Given the description of an element on the screen output the (x, y) to click on. 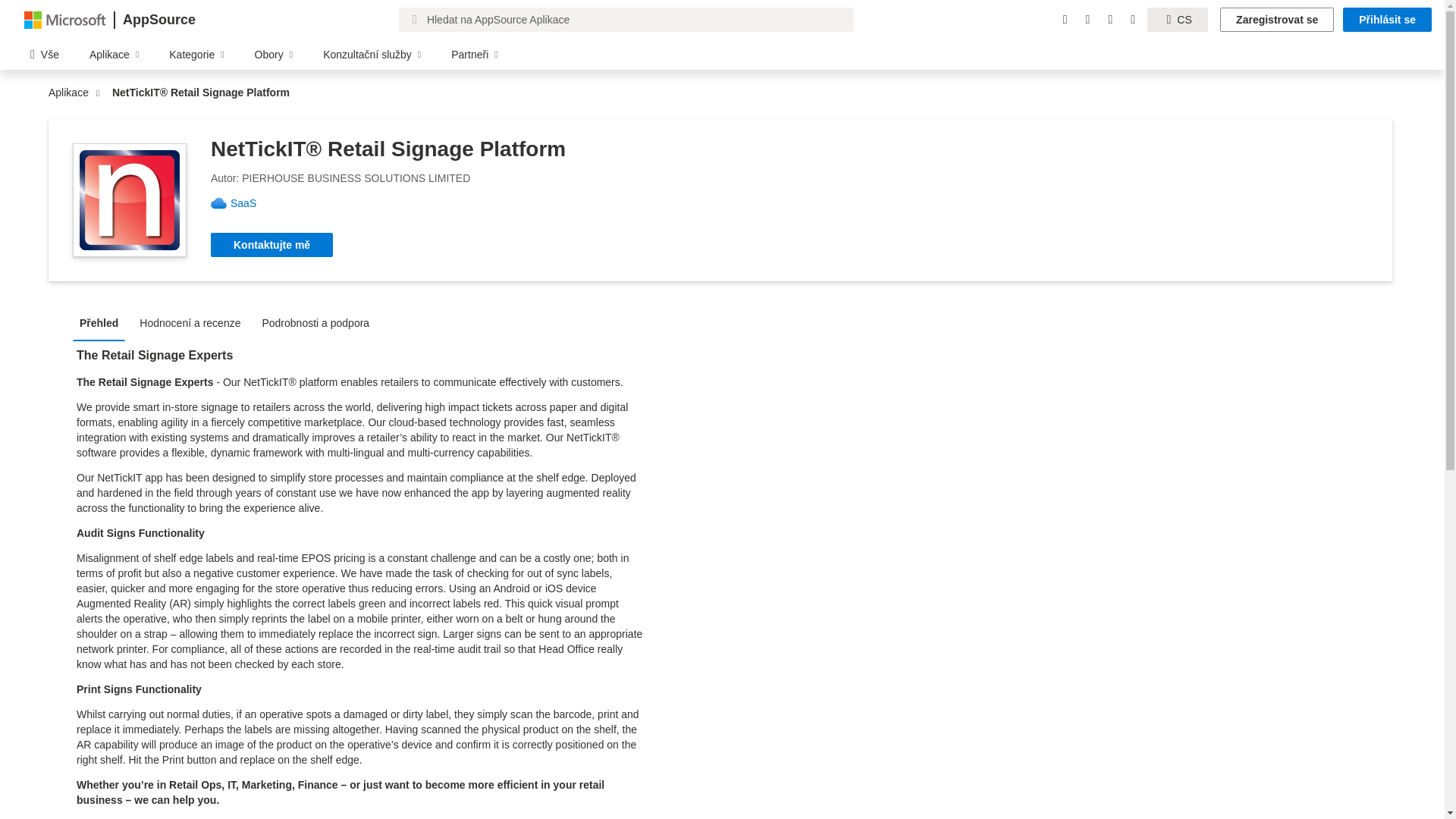
Microsoft (65, 18)
AppSource (158, 19)
SaaS (248, 203)
Aplikace (72, 92)
Zaregistrovat se (1276, 19)
Podrobnosti a podpora (319, 322)
SaaS (248, 203)
